Given the description of an element on the screen output the (x, y) to click on. 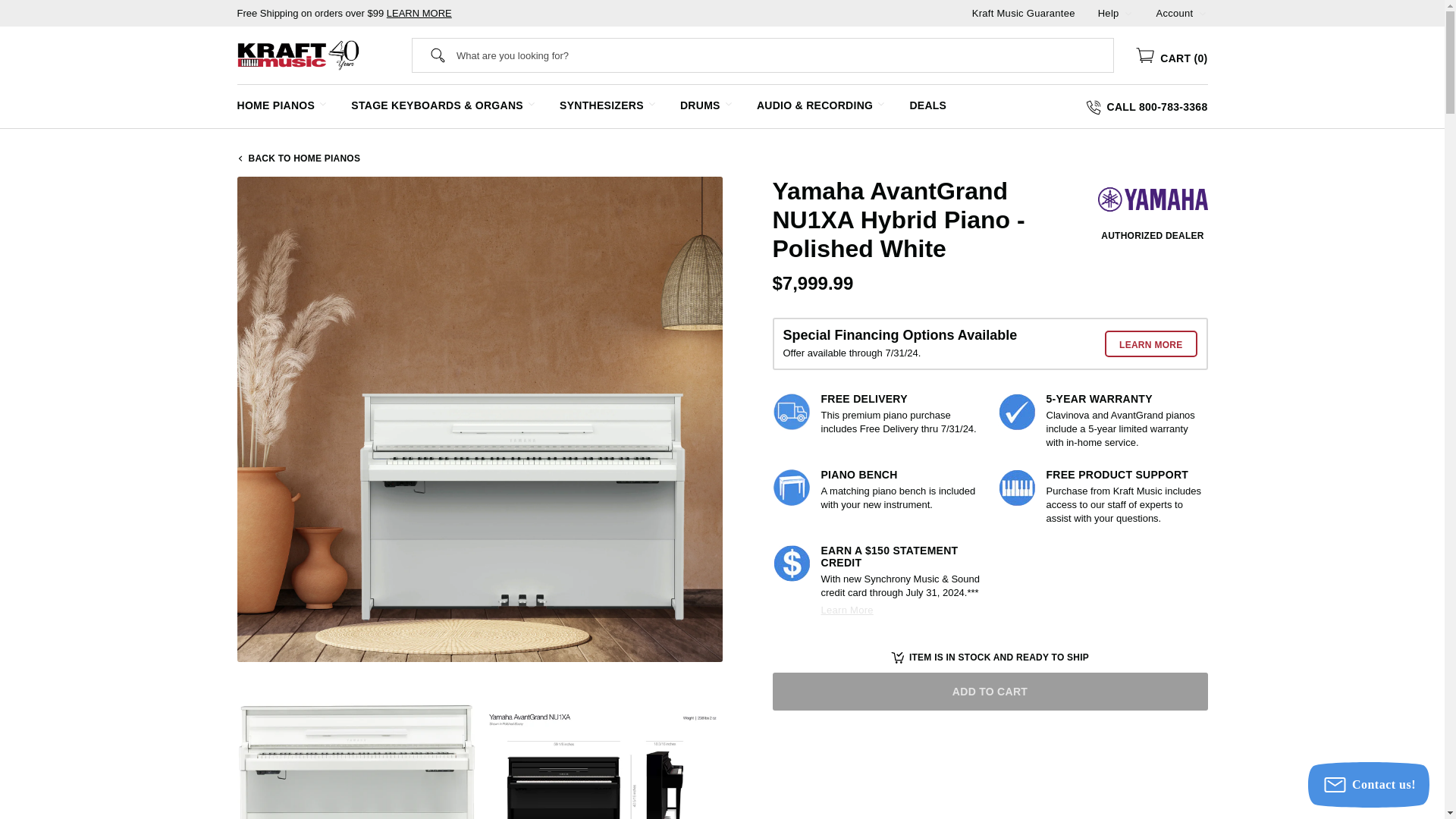
Kraft Music Guarantee (1023, 12)
Account submenu (1201, 12)
Account (1174, 12)
Help submenu (1128, 12)
LEARN MORE (419, 12)
Kraft Music Home (297, 55)
Help (1108, 12)
